Given the description of an element on the screen output the (x, y) to click on. 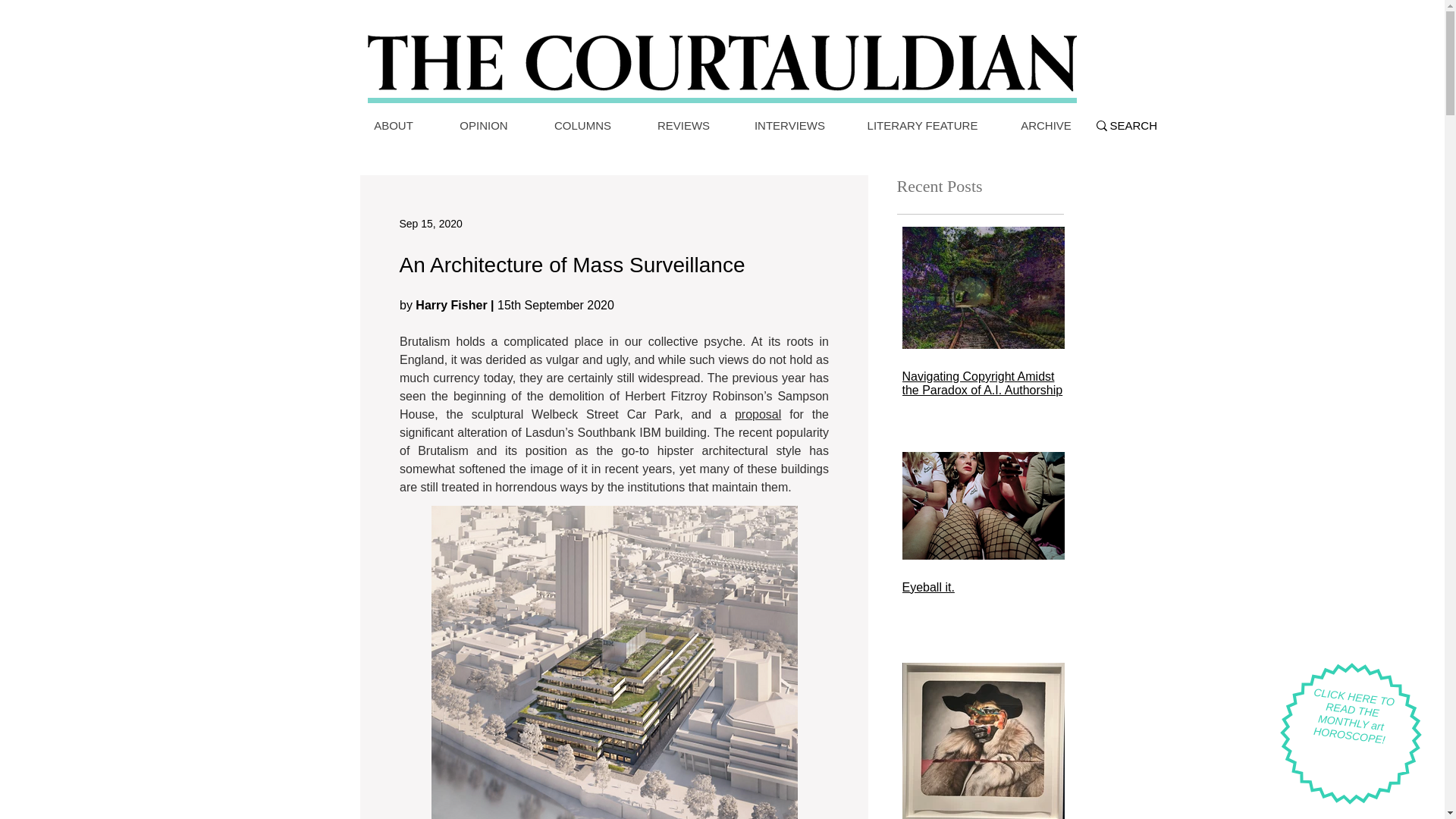
proposal (756, 413)
LITERARY FEATURE (921, 125)
OPINION (483, 125)
ABOUT (392, 125)
REVIEWS (682, 125)
ARCHIVE (1045, 125)
Sep 15, 2020 (429, 223)
INTERVIEWS (789, 125)
COLUMNS (582, 125)
